Given the description of an element on the screen output the (x, y) to click on. 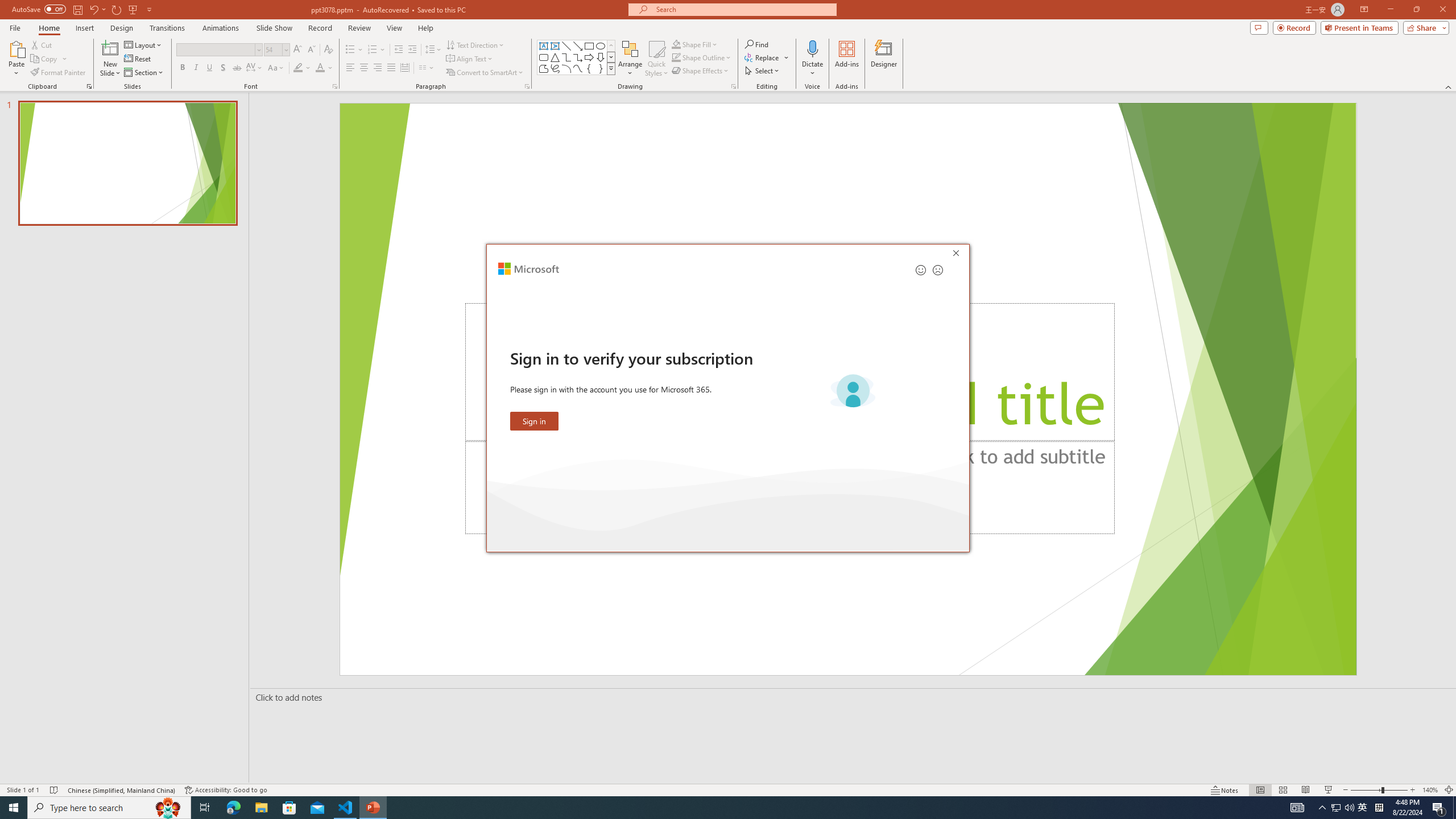
Line Spacing (433, 49)
Section (144, 72)
Italic (195, 67)
Justify (390, 67)
Shape Fill Dark Green, Accent 2 (675, 44)
Send a smile for feedback (920, 269)
